Given the description of an element on the screen output the (x, y) to click on. 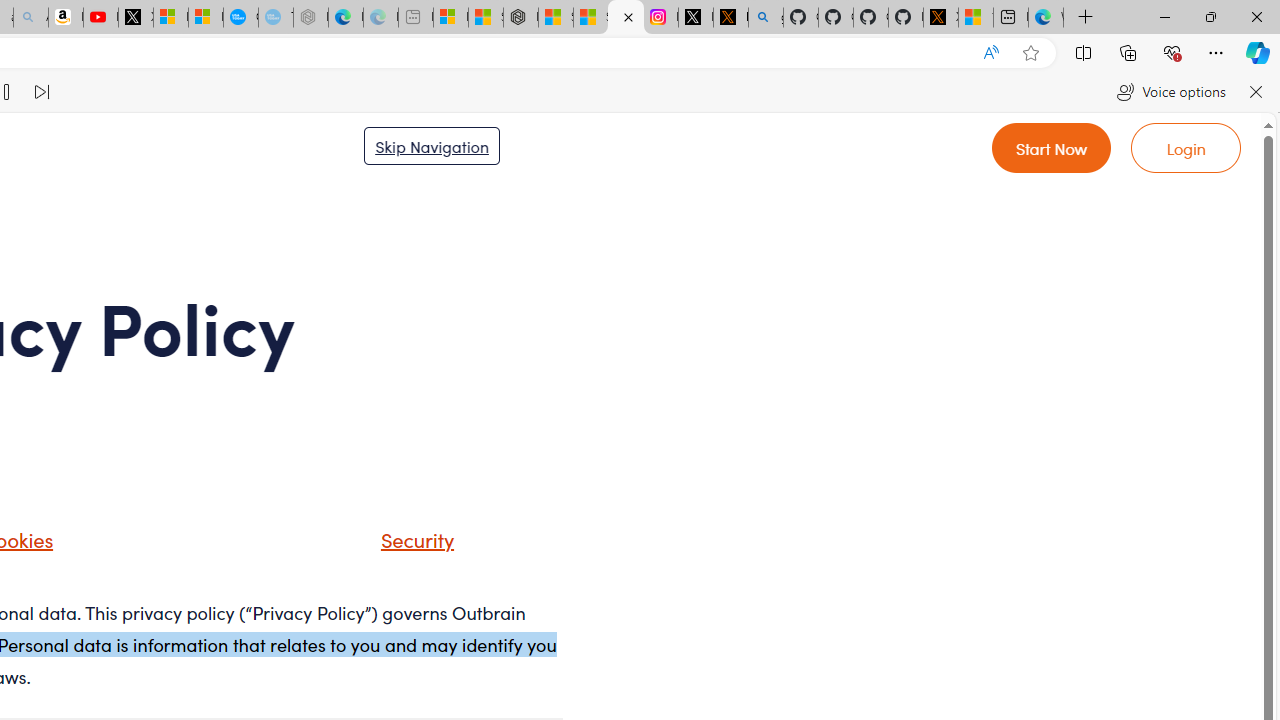
Read next paragraph (40, 92)
Security (392, 546)
Go to login (1186, 147)
Voice options (1170, 92)
Skip navigation to go to main content (431, 145)
